Given the description of an element on the screen output the (x, y) to click on. 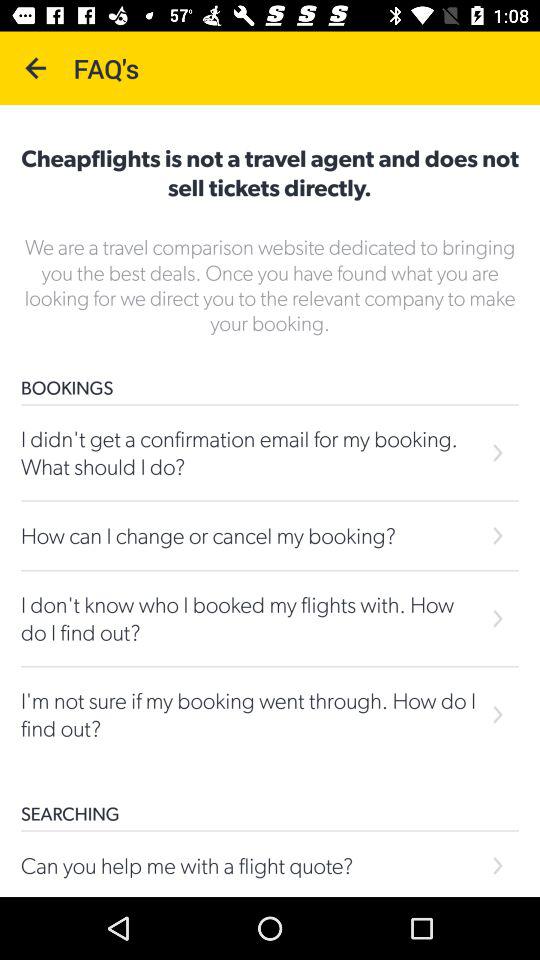
click icon above cheapflights is not item (36, 68)
